Given the description of an element on the screen output the (x, y) to click on. 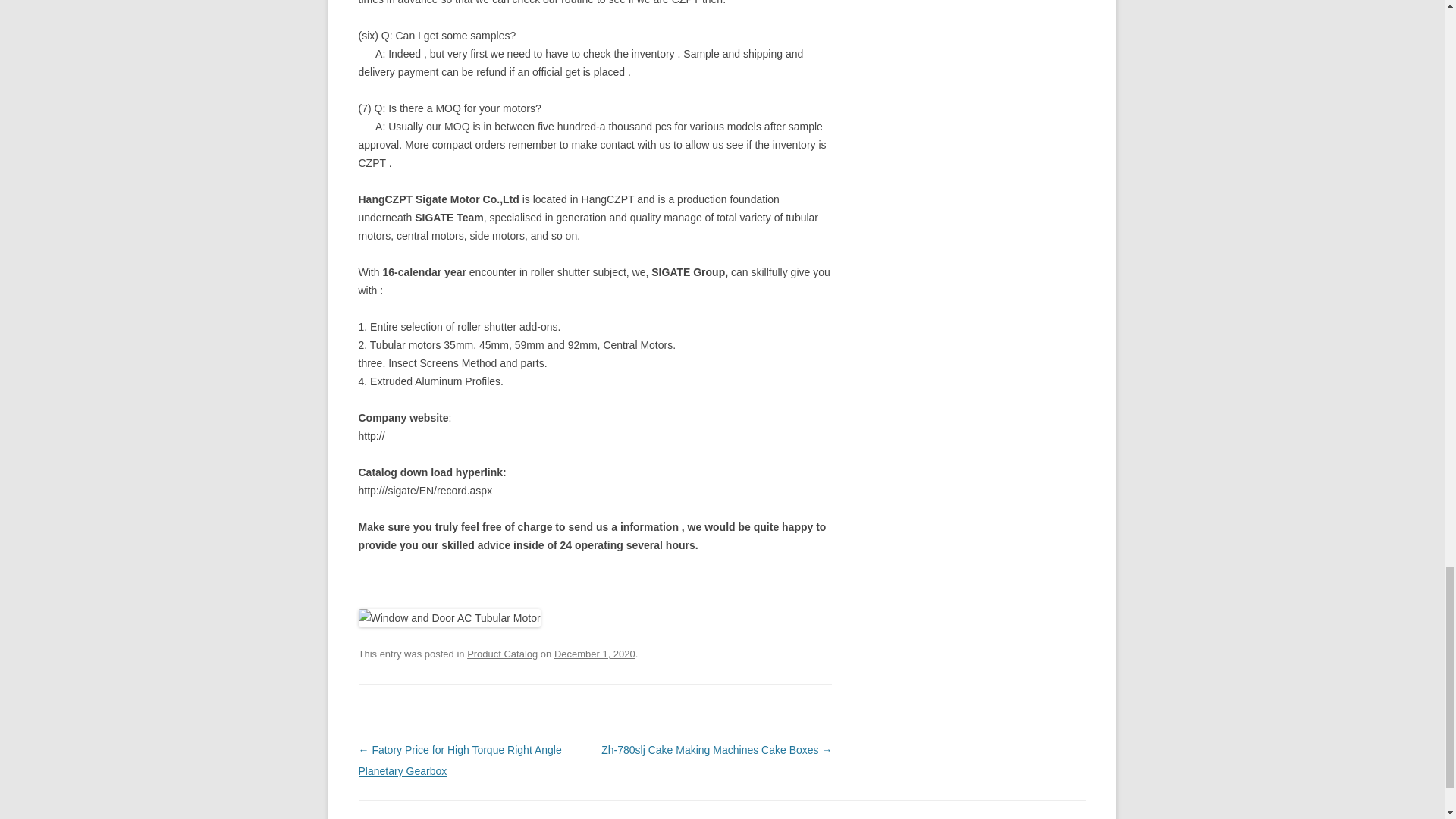
Window and Door AC Tubular Motor (449, 618)
December 1, 2020 (594, 654)
Product Catalog (502, 654)
3:20 am (594, 654)
